Given the description of an element on the screen output the (x, y) to click on. 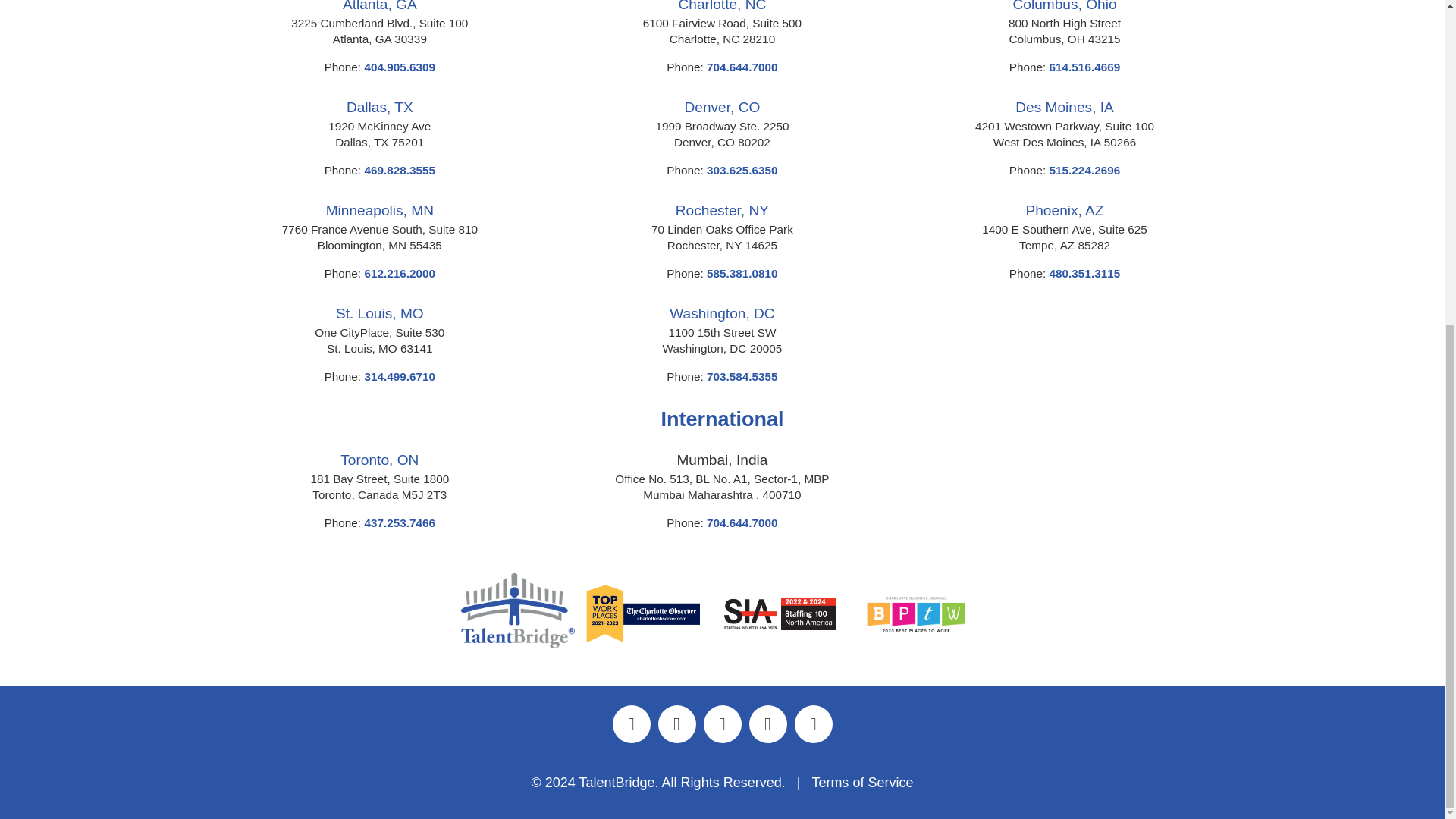
Minneapolis, MN (379, 210)
Columbus, Ohio (1064, 6)
Dallas, TX (379, 107)
303.625.6350 (741, 169)
Charlotte, NC (722, 6)
404.905.6309 (399, 66)
Atlanta, GA (379, 6)
614.516.4669 (1085, 66)
Denver, CO (722, 107)
Des Moines, IA (1063, 107)
